Given the description of an element on the screen output the (x, y) to click on. 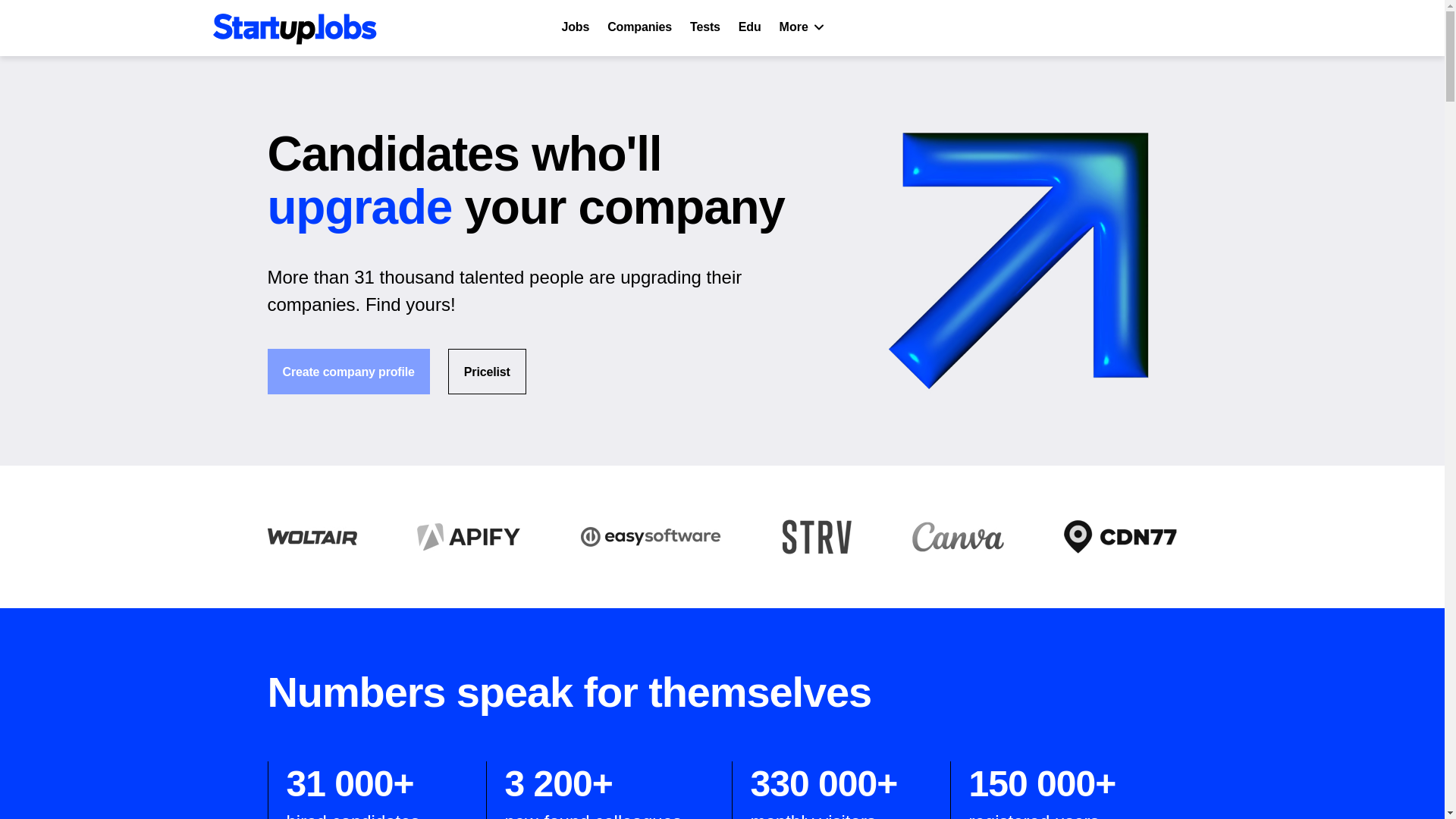
Create company profile (347, 370)
Companies (639, 28)
Pricelist (486, 370)
More (802, 28)
